Given the description of an element on the screen output the (x, y) to click on. 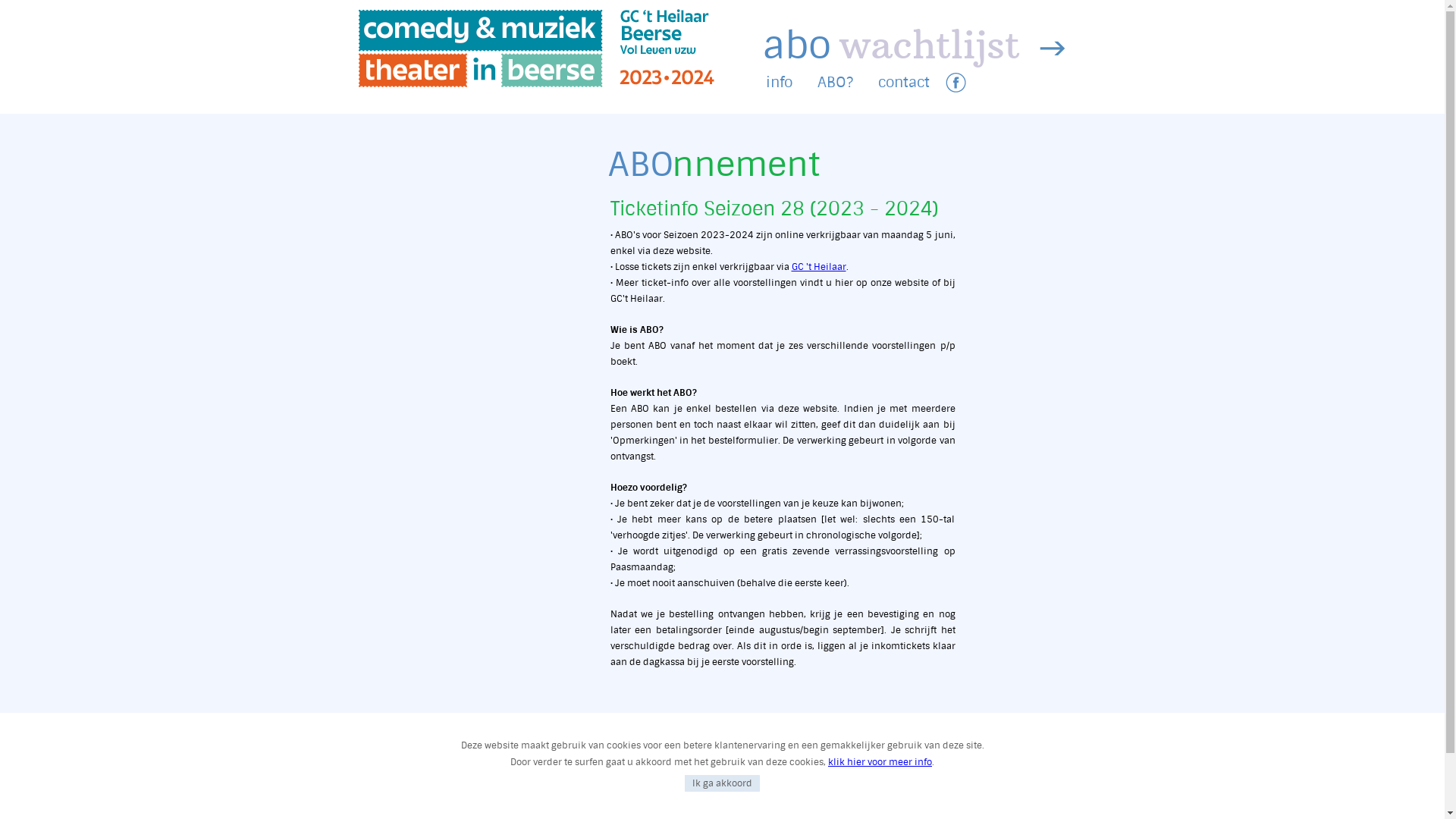
klik hier voor meer info Element type: text (879, 762)
GC 't Heilaar Element type: text (818, 266)
contact Element type: text (903, 81)
ABO? Element type: text (835, 81)
info Element type: text (778, 81)
